Given the description of an element on the screen output the (x, y) to click on. 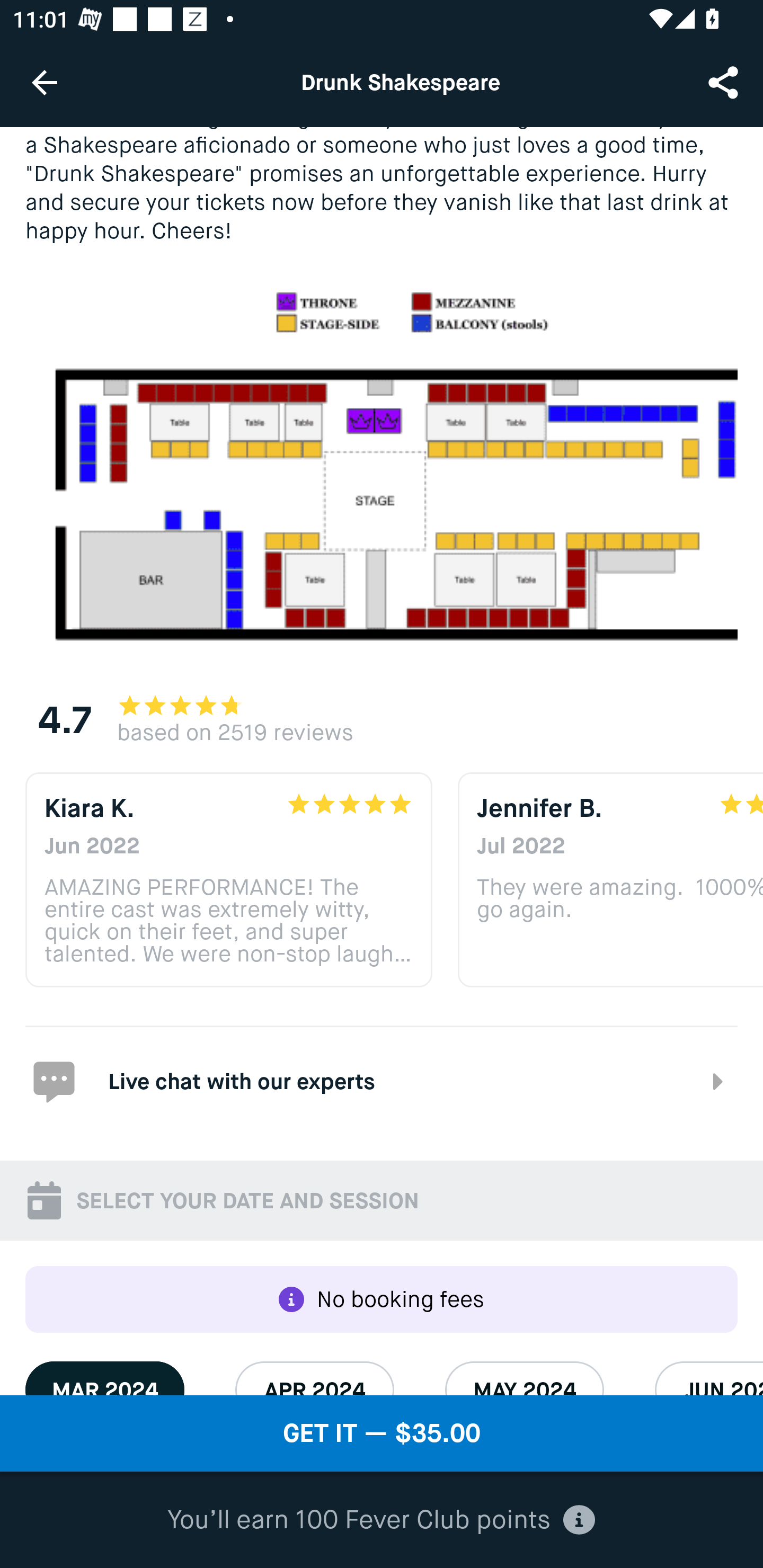
Navigate up (44, 82)
Share (724, 81)
Live chat with our experts (381, 1080)
GET IT — $35.00 (381, 1433)
You’ll earn 100 Fever Club points (381, 1519)
